Given the description of an element on the screen output the (x, y) to click on. 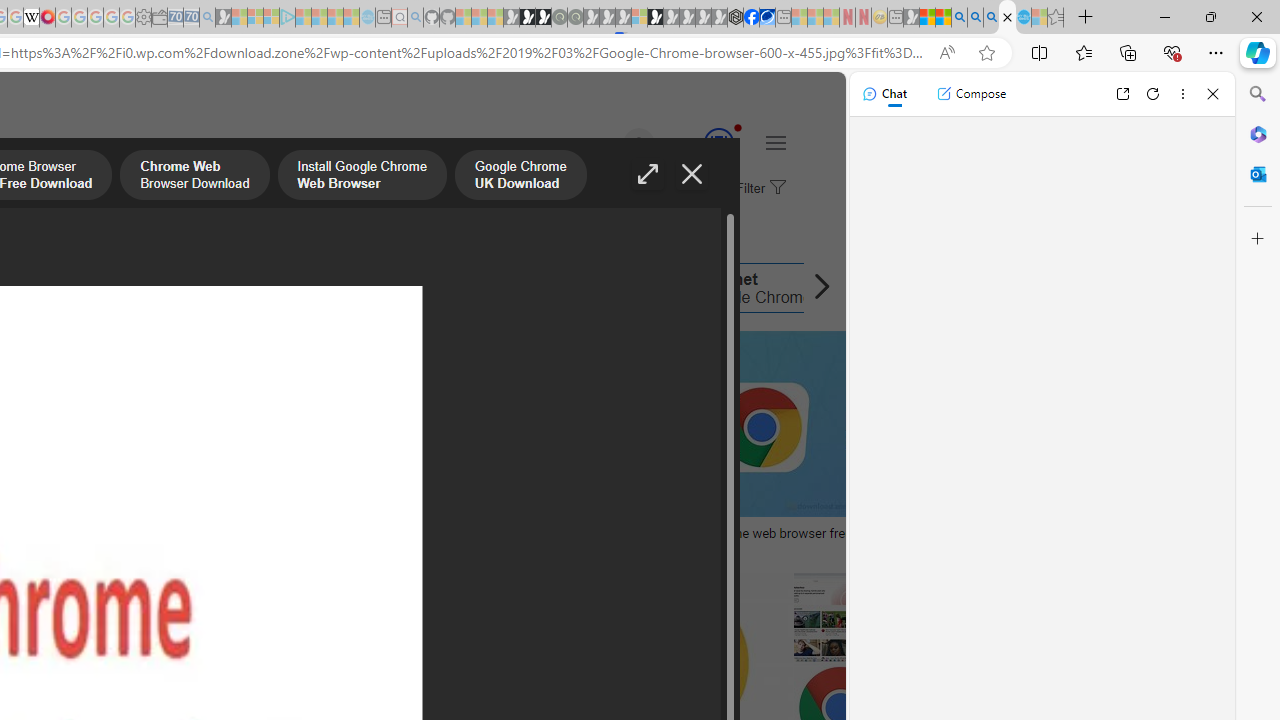
MediaWiki (47, 17)
AirNow.gov (767, 17)
wizardsgase - Blog (204, 533)
Internet Google Chrome (738, 287)
Google Chrome Fast Download (542, 287)
Class: item col (738, 287)
How to download & install Chrome on Windows 10 /11 (470, 533)
